Given the description of an element on the screen output the (x, y) to click on. 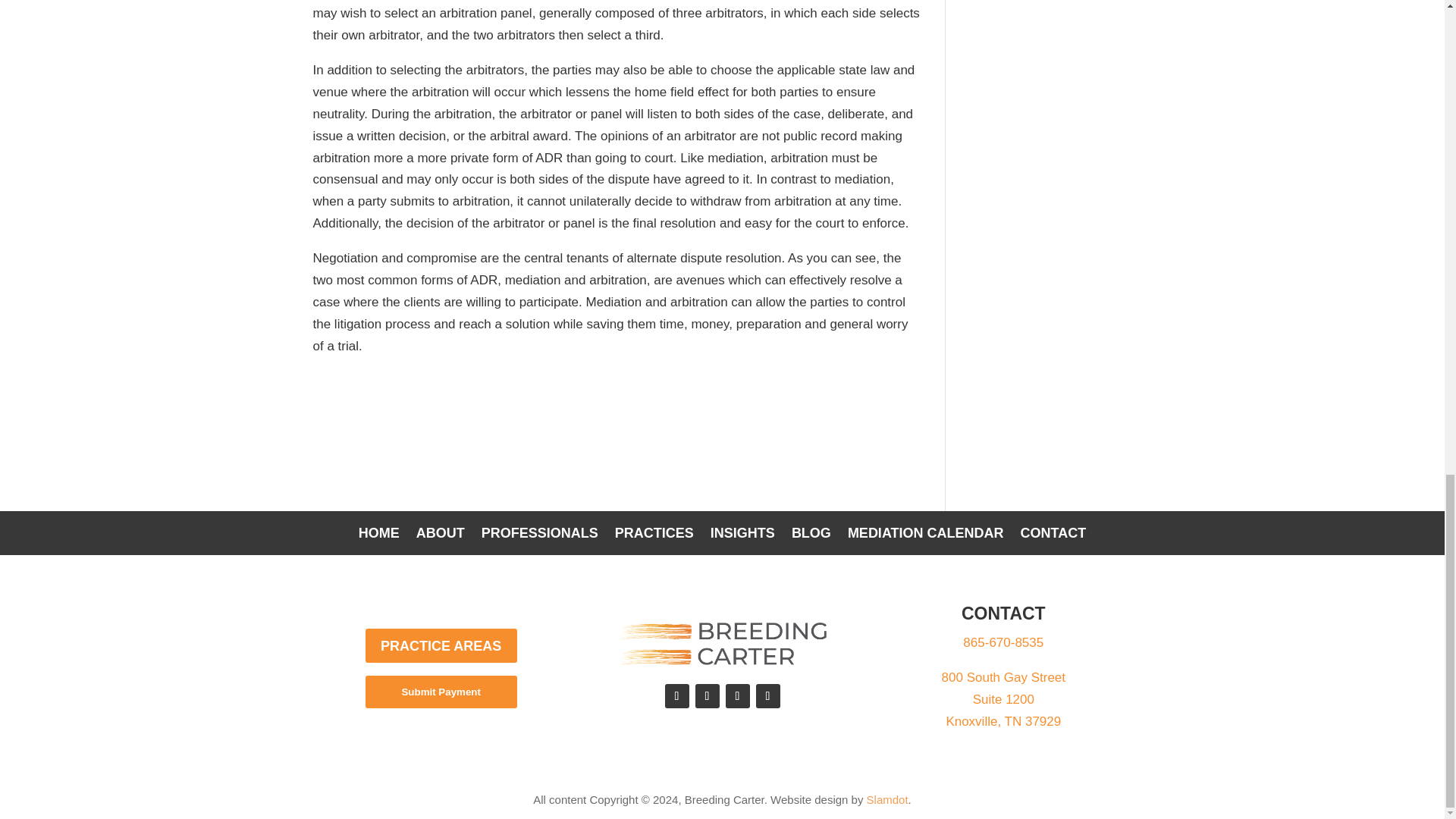
Follow on Instagram (706, 695)
Follow on Facebook (675, 695)
Follow on X (766, 695)
Follow on LinkedIn (737, 695)
